Given the description of an element on the screen output the (x, y) to click on. 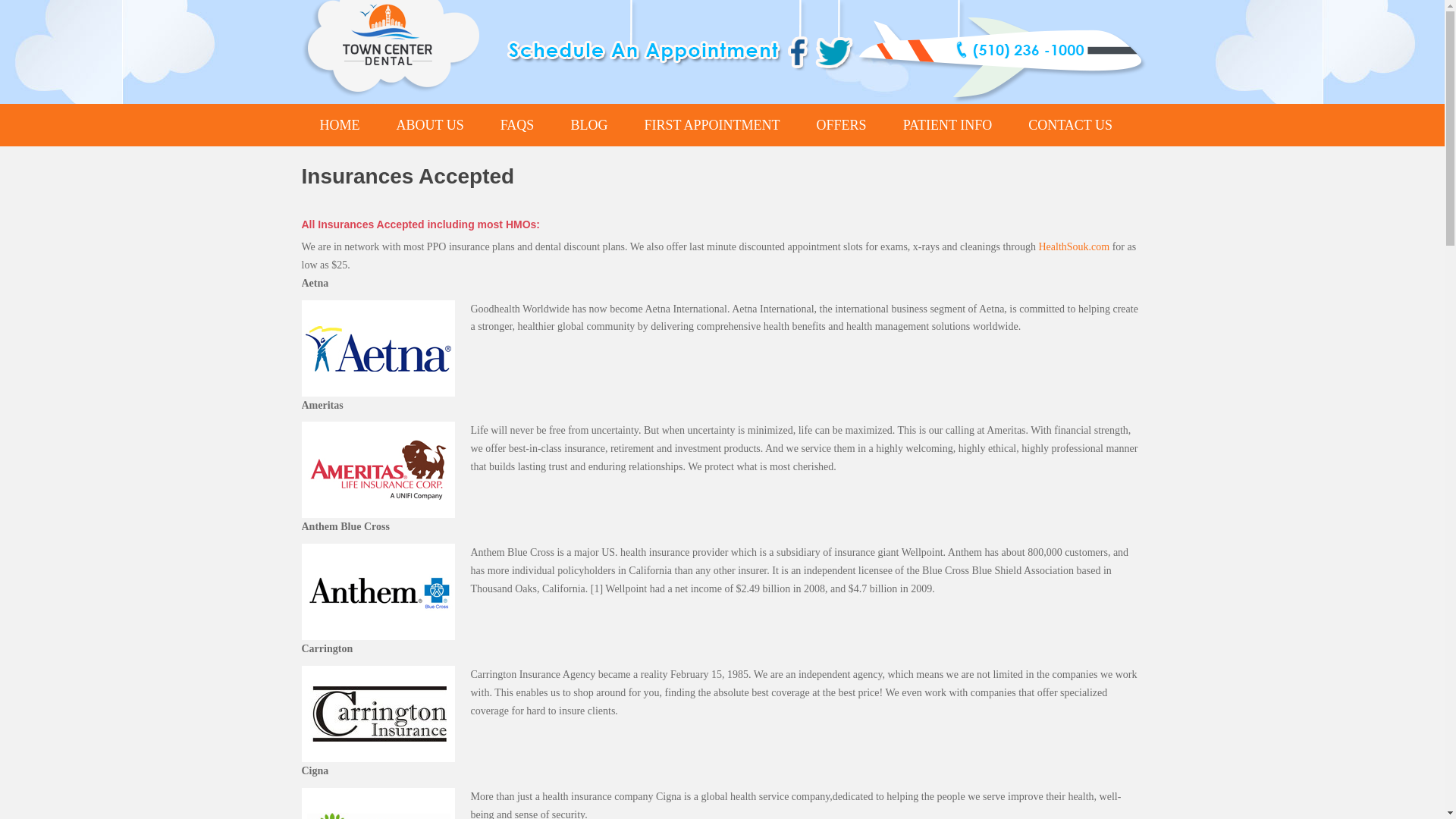
FAQS (517, 125)
HOME (339, 125)
BLOG (588, 125)
ABOUT US (429, 125)
OFFERS (841, 125)
FIRST APPOINTMENT (711, 125)
